Given the description of an element on the screen output the (x, y) to click on. 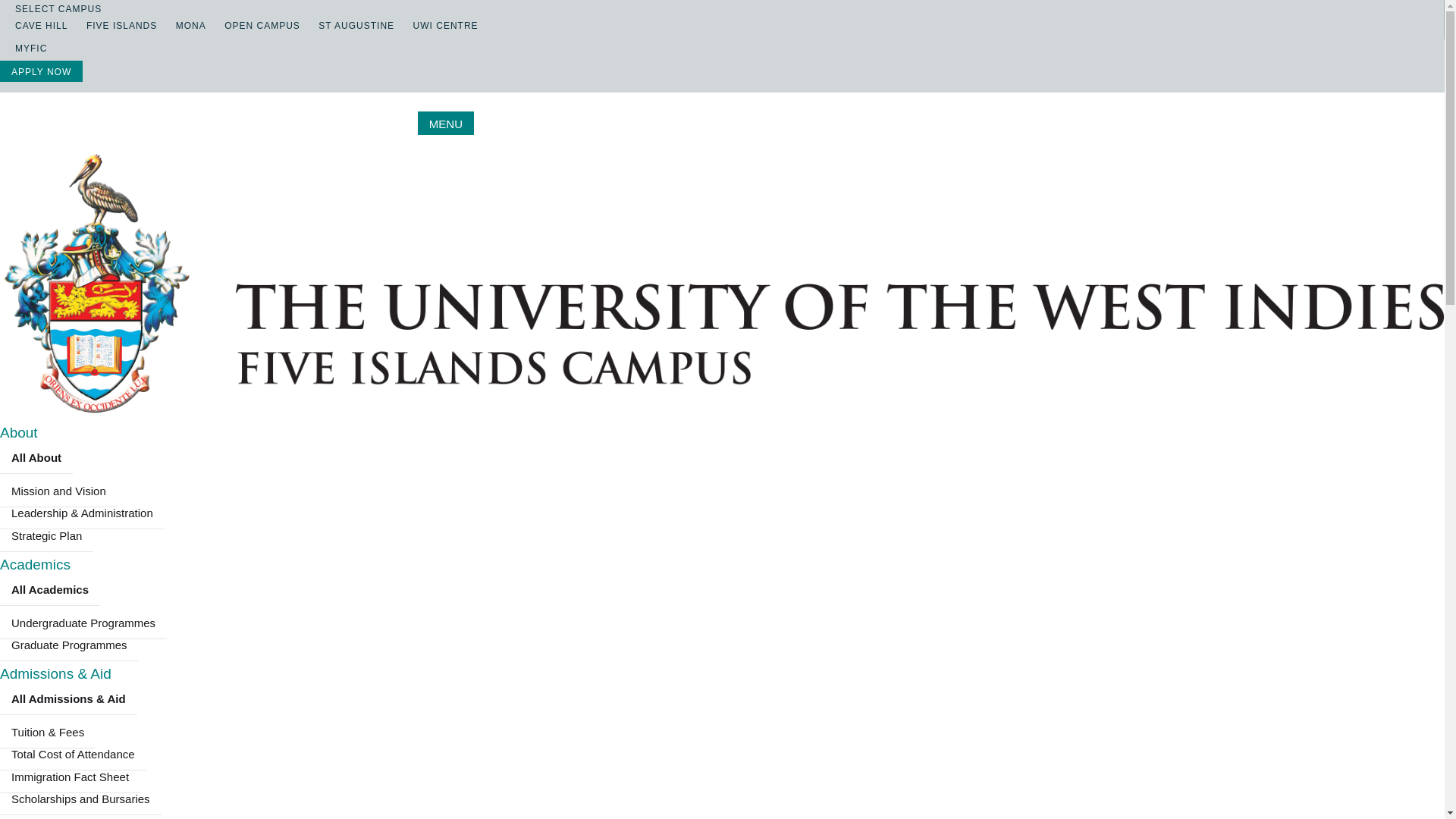
Graduate Programmes (69, 644)
CAVE HILL (33, 25)
All Academics (50, 590)
ST AUGUSTINE (348, 25)
Strategic Plan (46, 536)
Mission and Vision (58, 490)
Scholarships and Bursaries (80, 798)
About (18, 432)
Total Cost of Attendance (73, 754)
